Given the description of an element on the screen output the (x, y) to click on. 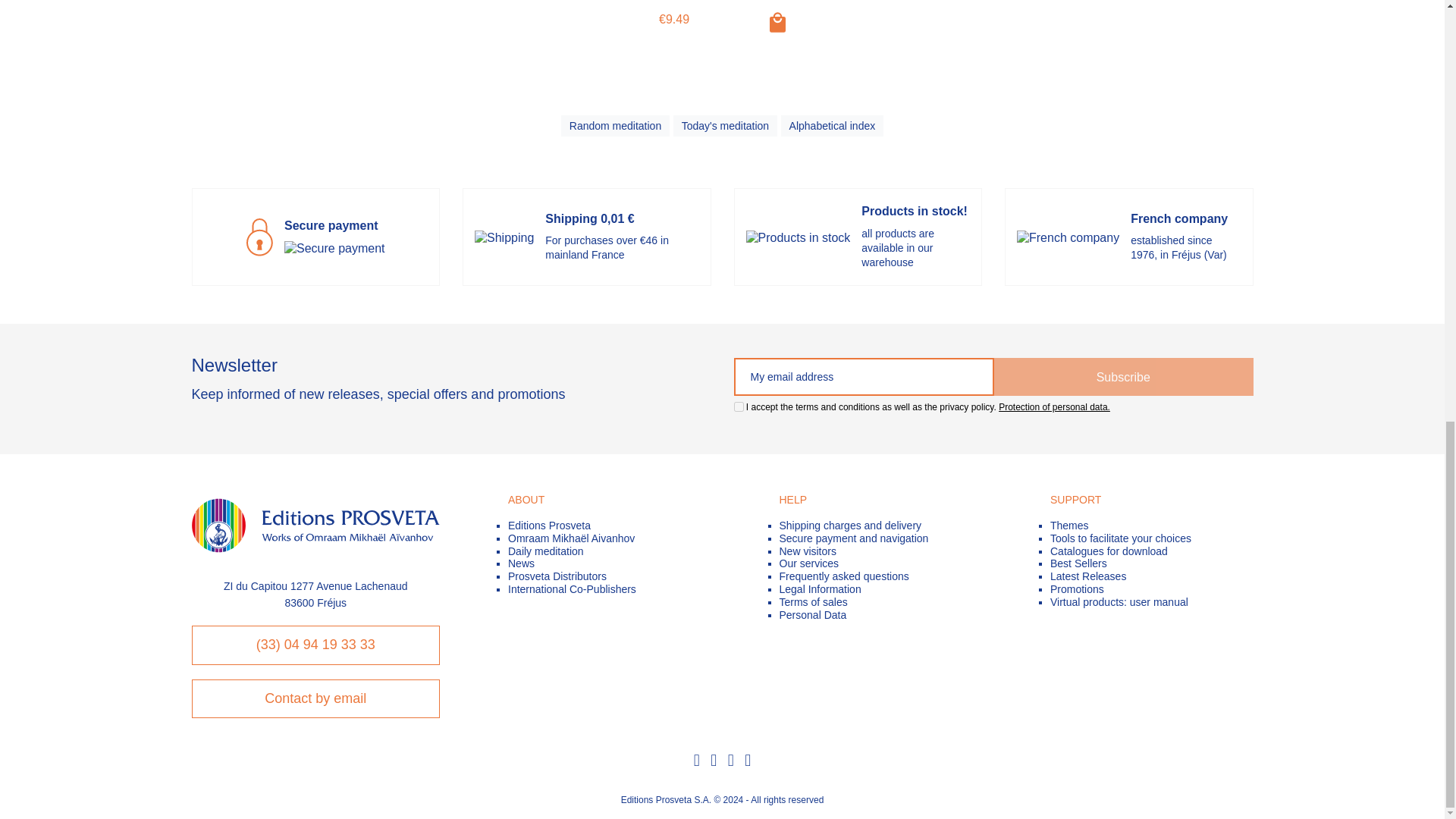
1 (738, 406)
Subscribe (1122, 376)
